Given the description of an element on the screen output the (x, y) to click on. 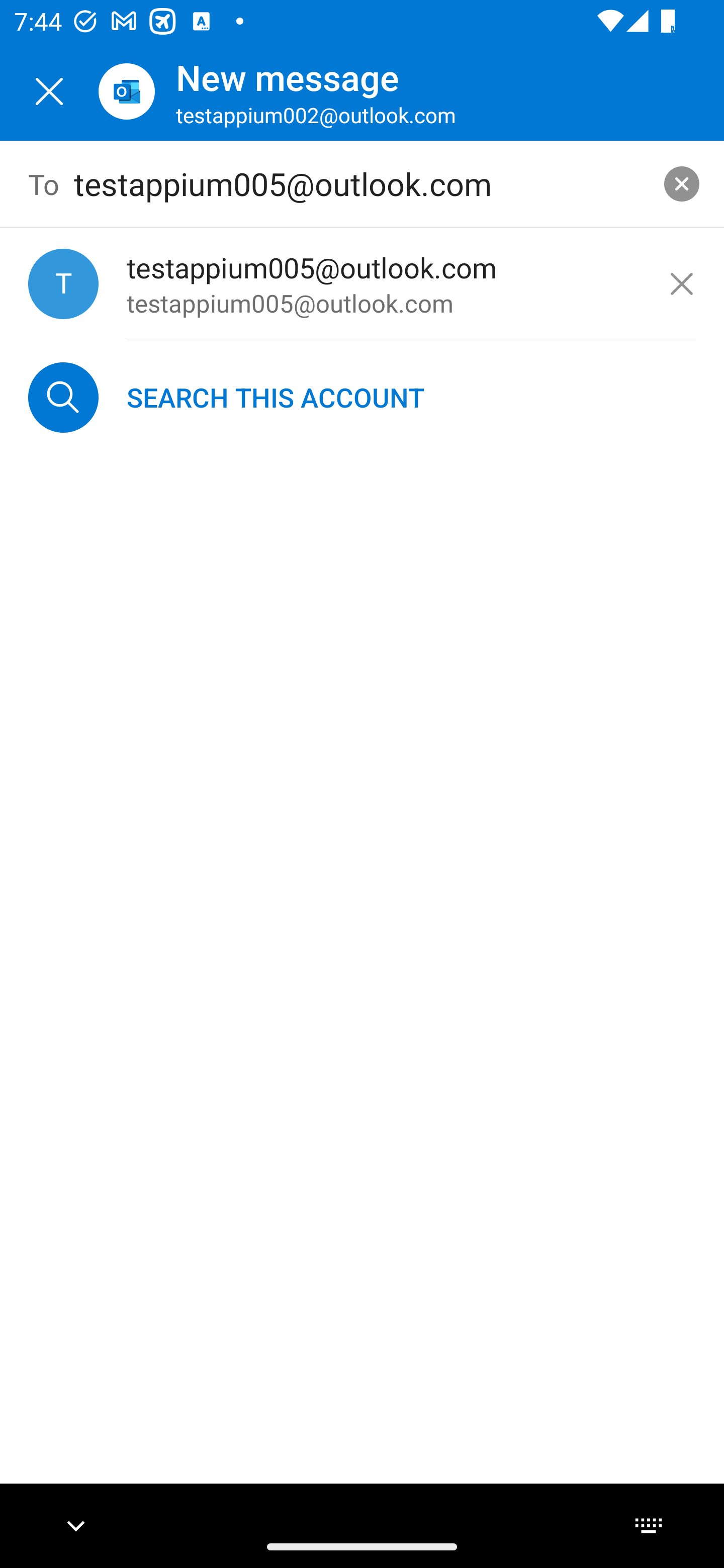
Close (49, 91)
testappium005@outlook.com (362, 184)
clear search (681, 183)
